Given the description of an element on the screen output the (x, y) to click on. 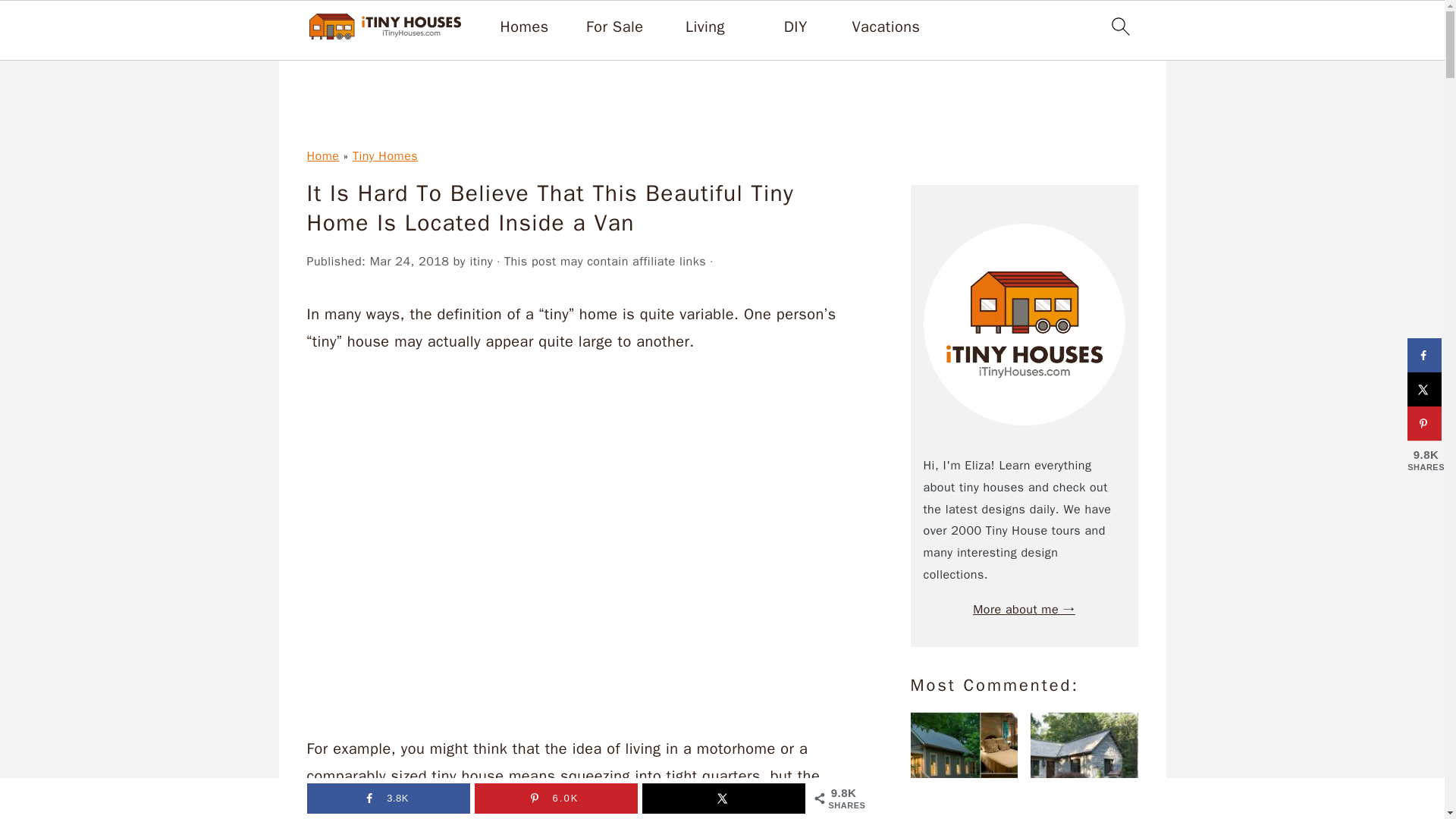
Living (705, 27)
search icon (1119, 26)
Share on Facebook (1424, 355)
Vacations (885, 27)
DIY (796, 27)
For Sale (614, 27)
Share on X (1424, 389)
Homes (524, 27)
